Given the description of an element on the screen output the (x, y) to click on. 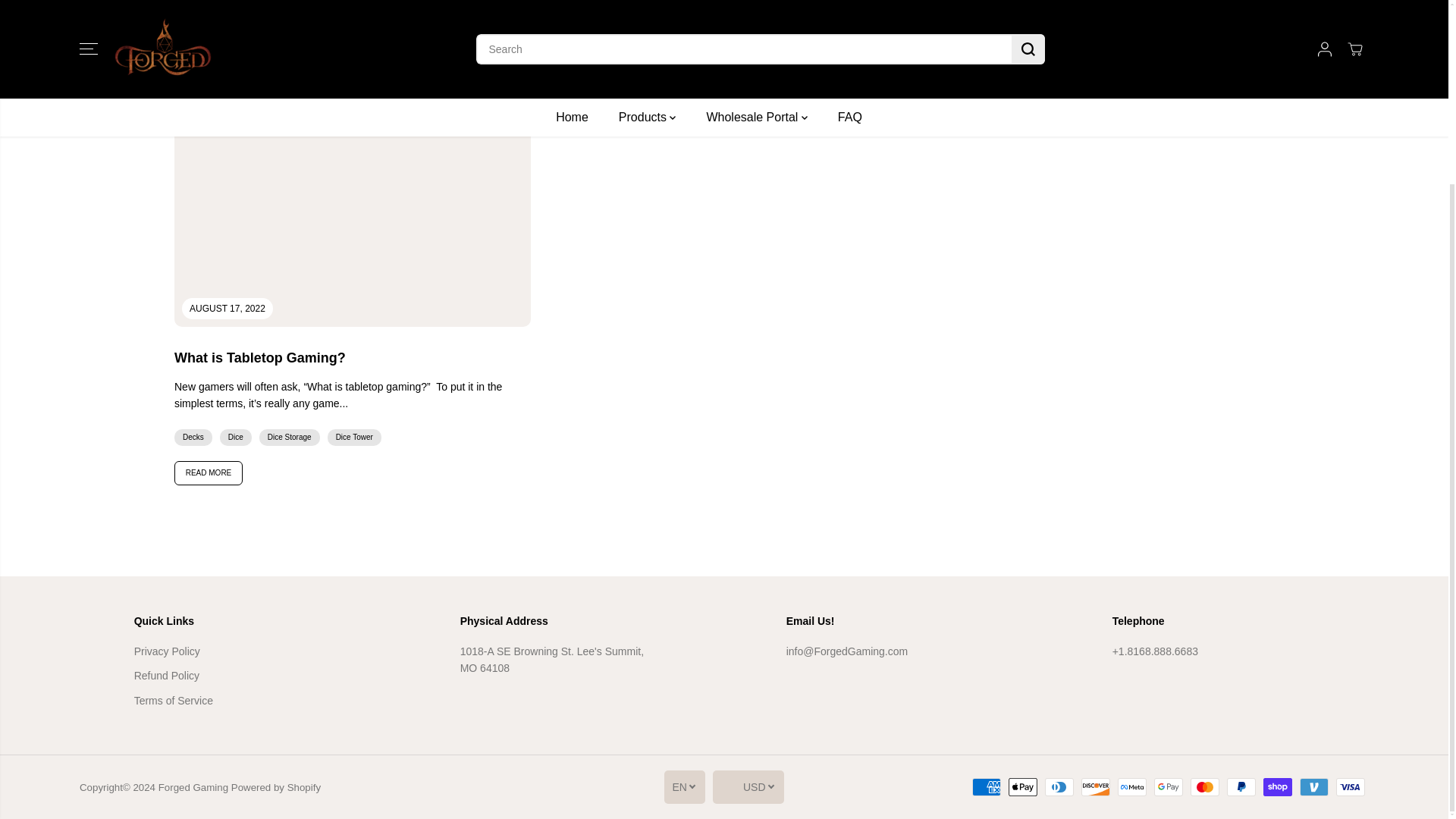
Narrow search to articles also having tag Dice Tower (520, 55)
American Express (986, 787)
Apple Pay (1022, 787)
Discover (1095, 787)
Meta Pay (1132, 787)
Diners Club (1059, 787)
Google Pay (1168, 787)
Visa (1350, 787)
PayPal (1241, 787)
Shop Pay (1277, 787)
